Given the description of an element on the screen output the (x, y) to click on. 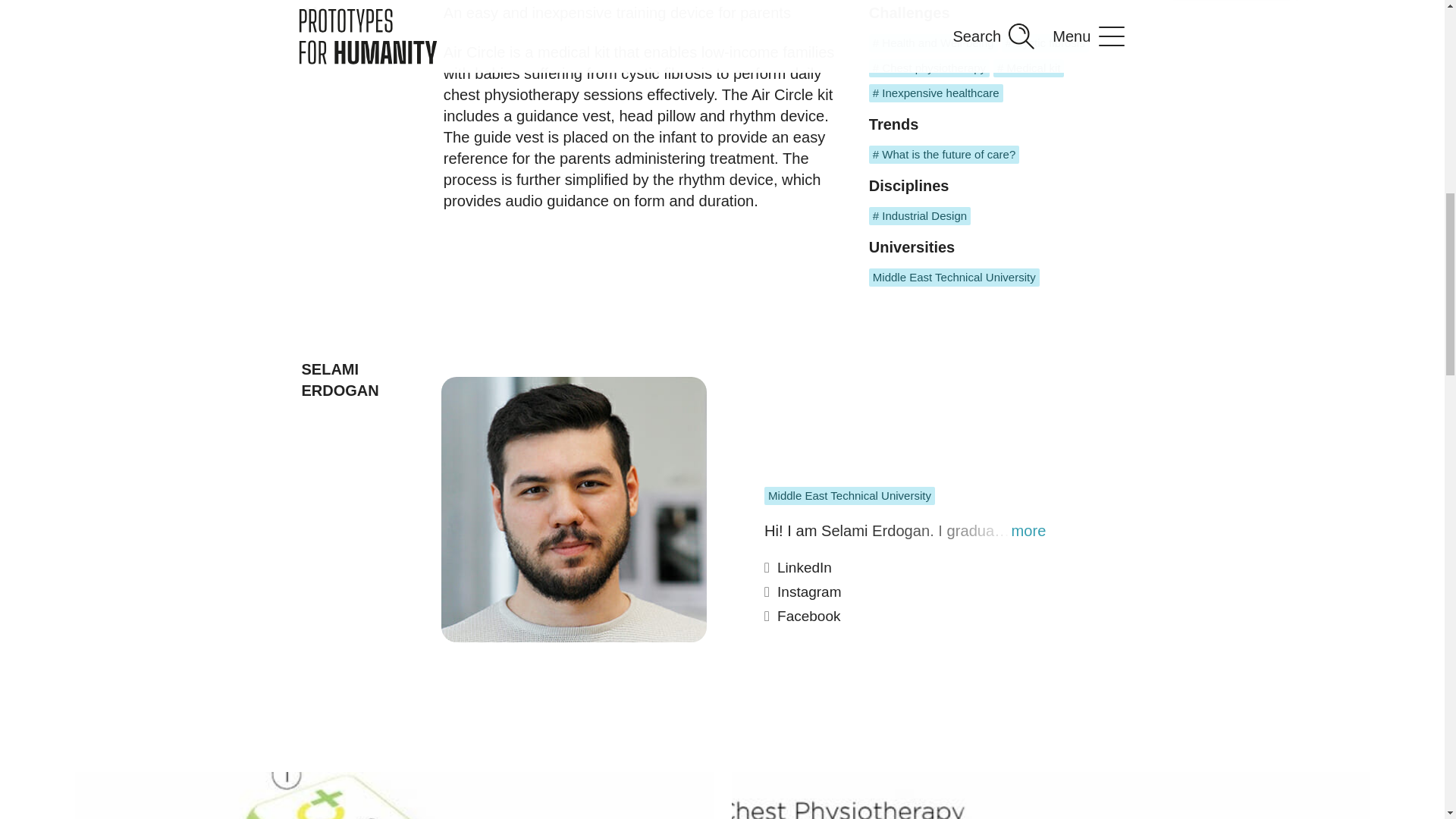
Middle East Technical University (954, 277)
Facebook (910, 620)
Instagram (910, 595)
LinkedIn (910, 571)
Middle East Technical University (849, 495)
